Given the description of an element on the screen output the (x, y) to click on. 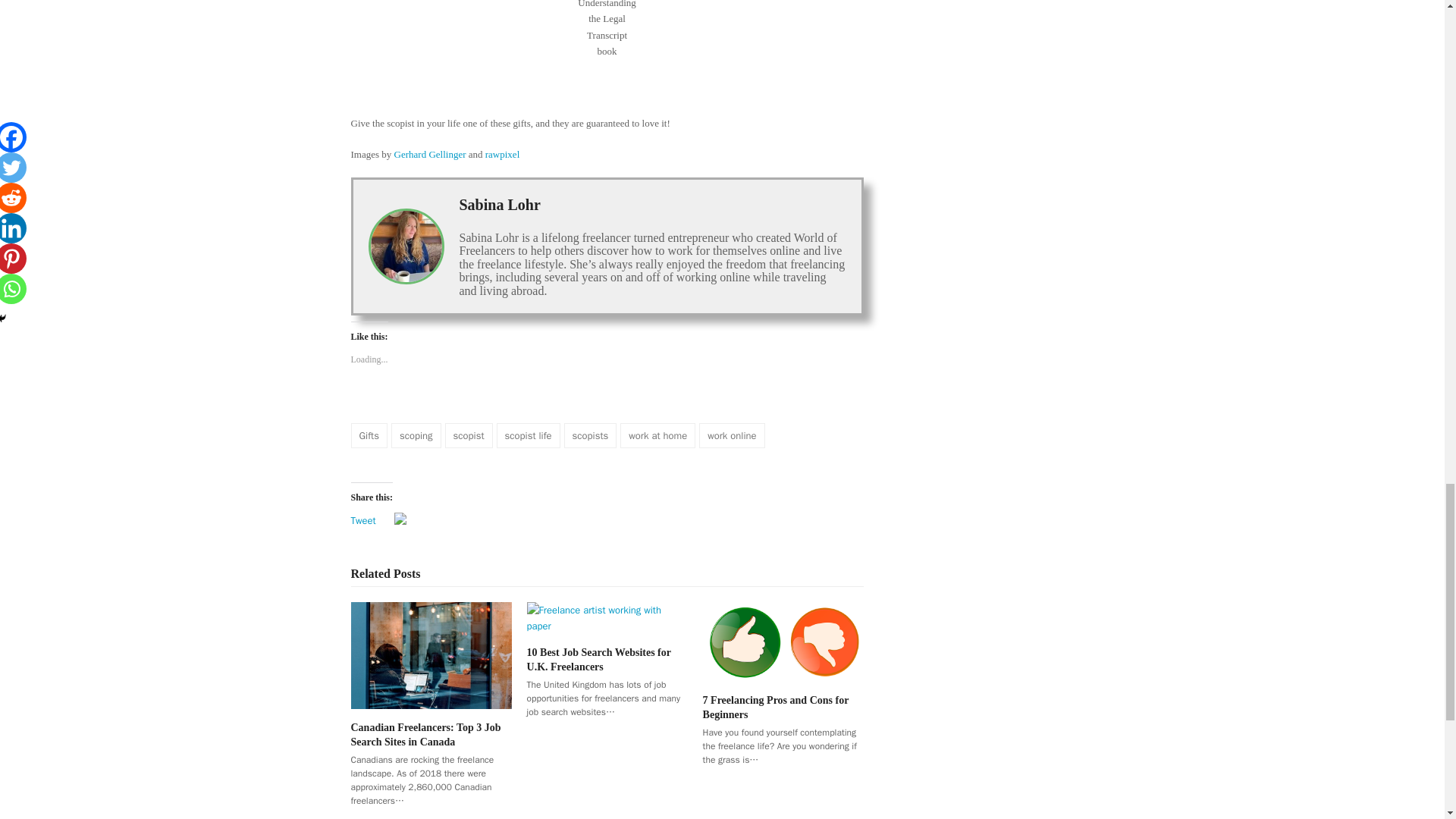
Canadian Freelancers: Top 3 Job Search Sites in Canada (430, 654)
10 Best Job Search Websites for U.K. Freelancers (607, 616)
7 Freelancing Pros and Cons for Beginners (783, 640)
